Given the description of an element on the screen output the (x, y) to click on. 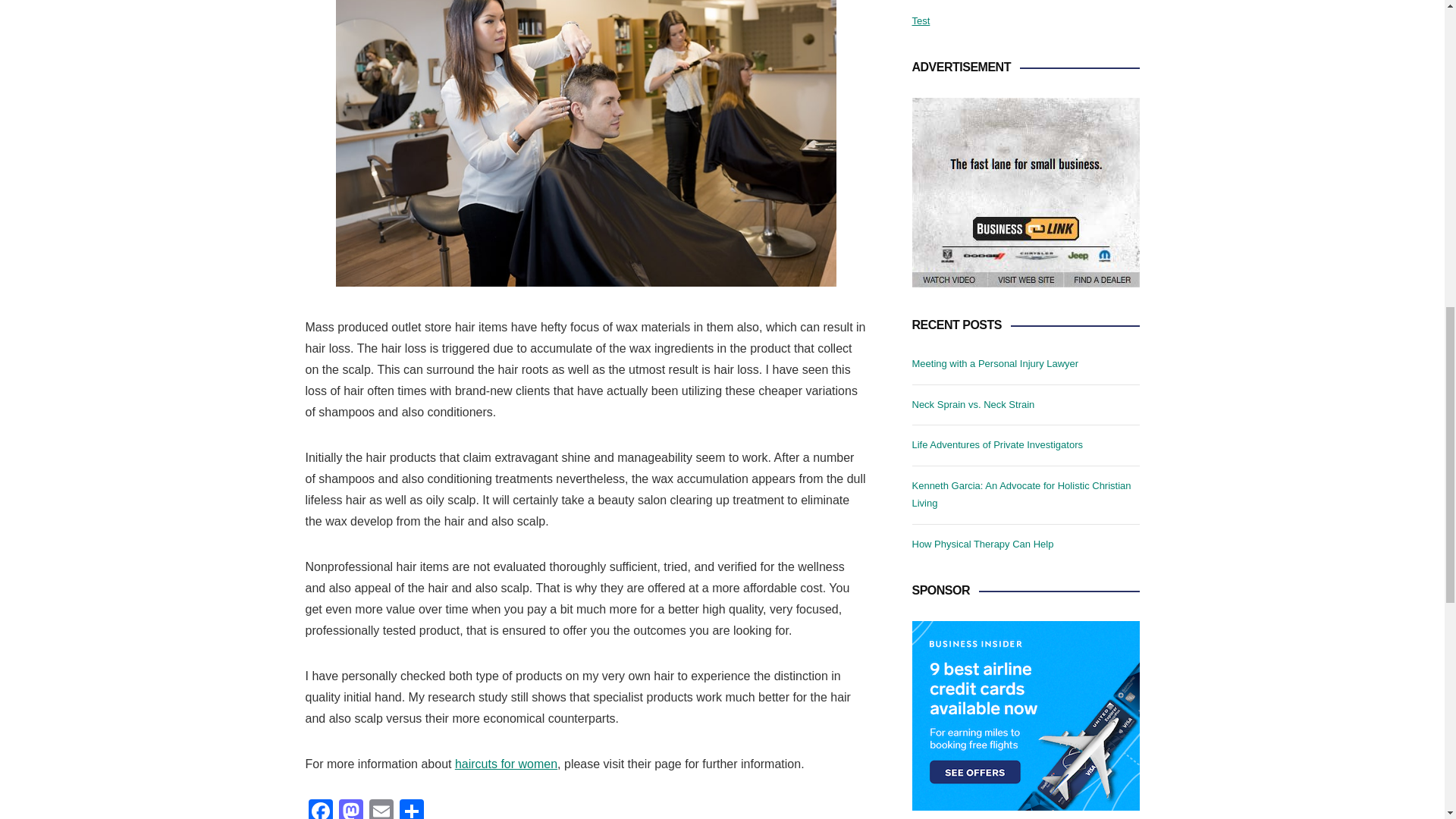
Email (380, 809)
Facebook (319, 809)
Mastodon (349, 809)
